Given the description of an element on the screen output the (x, y) to click on. 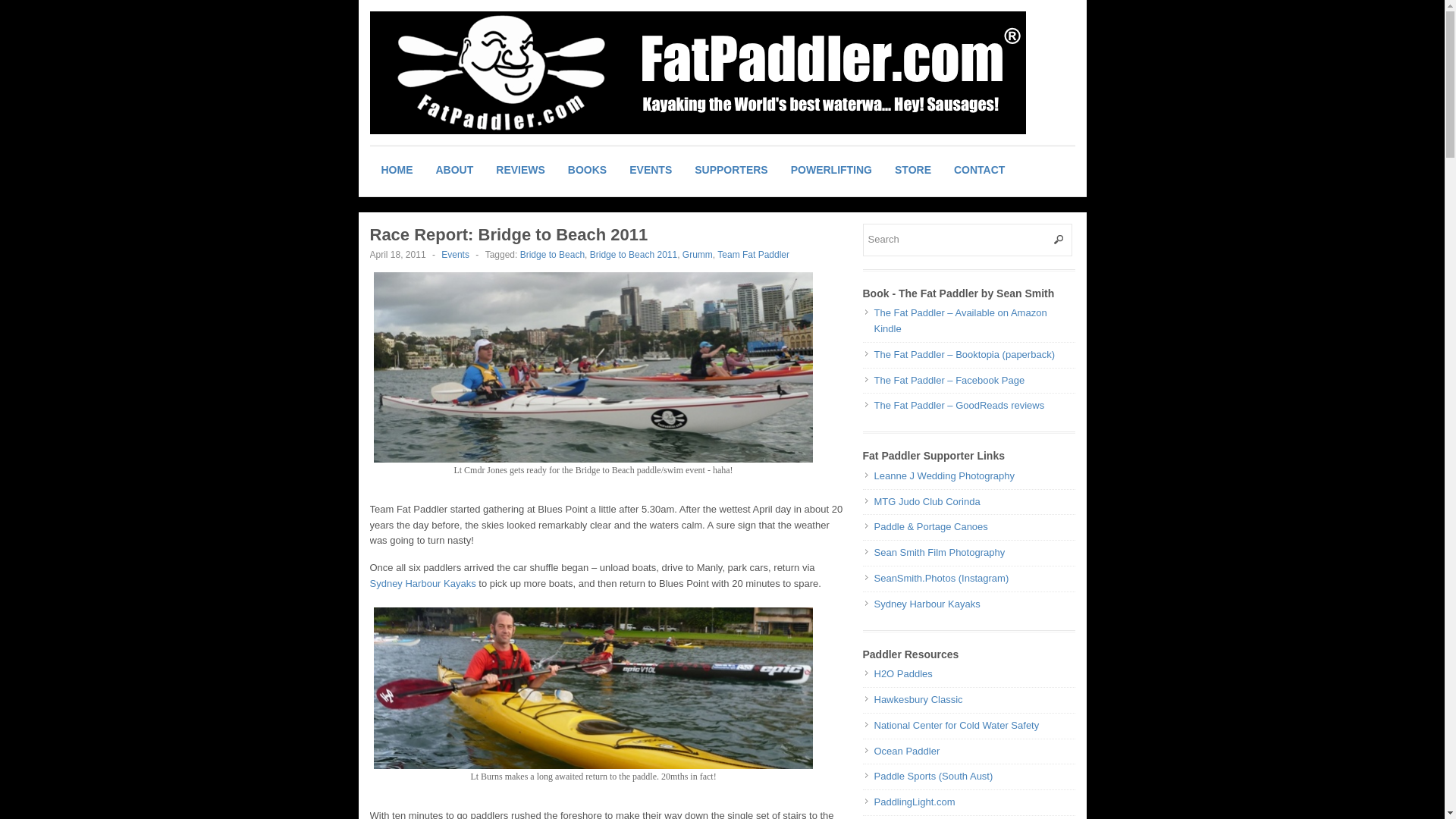
SUPPORTERS (730, 169)
Search (967, 239)
BOOKS (586, 169)
Search (967, 239)
STORE (912, 169)
Bridge to Beach 2011 (633, 254)
Bridge to Beach (552, 254)
Events (454, 254)
Sydney Harbour Kayaks - hire and sales (422, 583)
The Fat Paddler by Sean Smith on Facebook (949, 379)
